Given the description of an element on the screen output the (x, y) to click on. 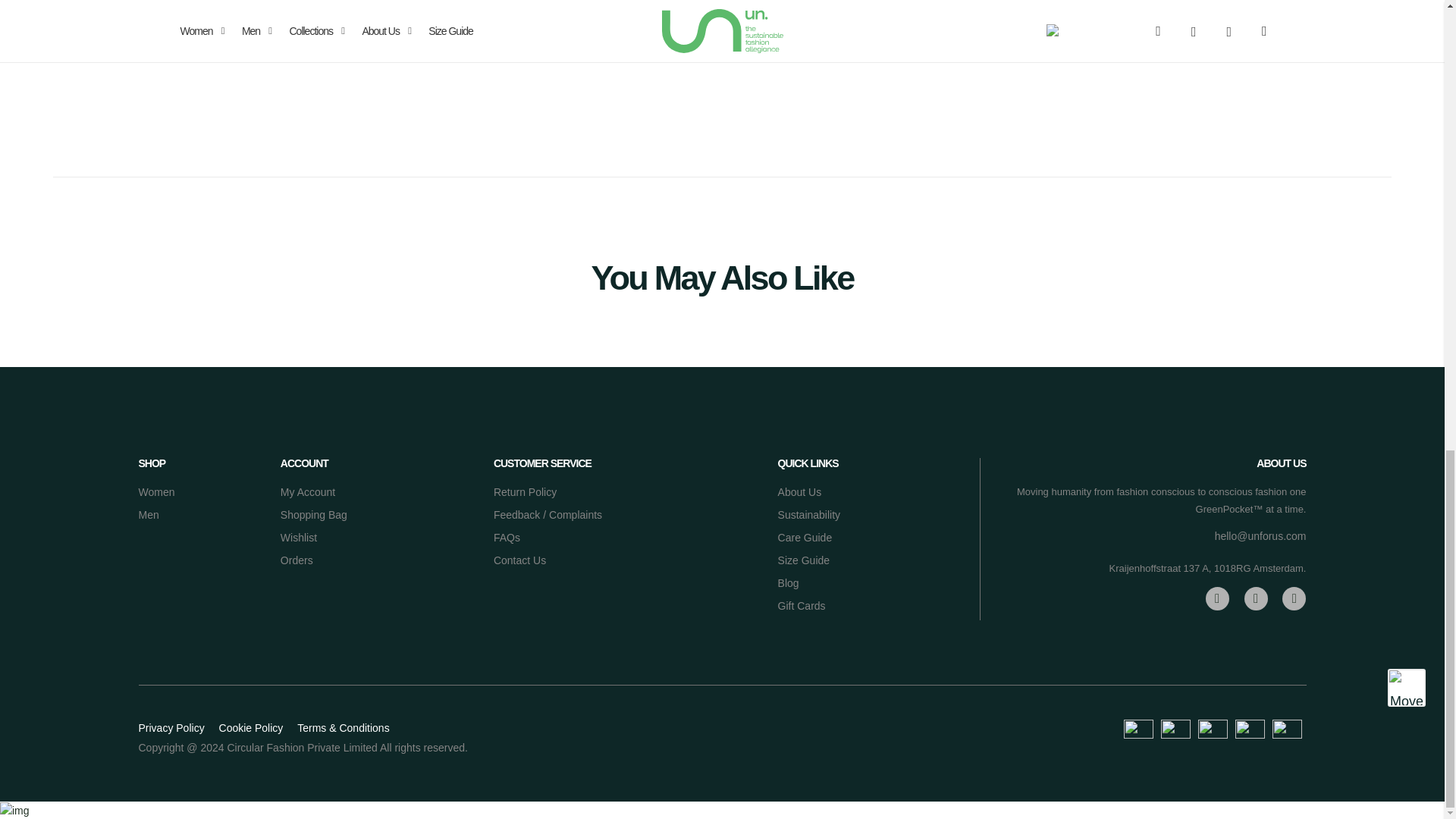
Privacy Policy (170, 727)
faq's (506, 537)
Cookie Policy (251, 727)
Add to Wishlist (907, 20)
